Given the description of an element on the screen output the (x, y) to click on. 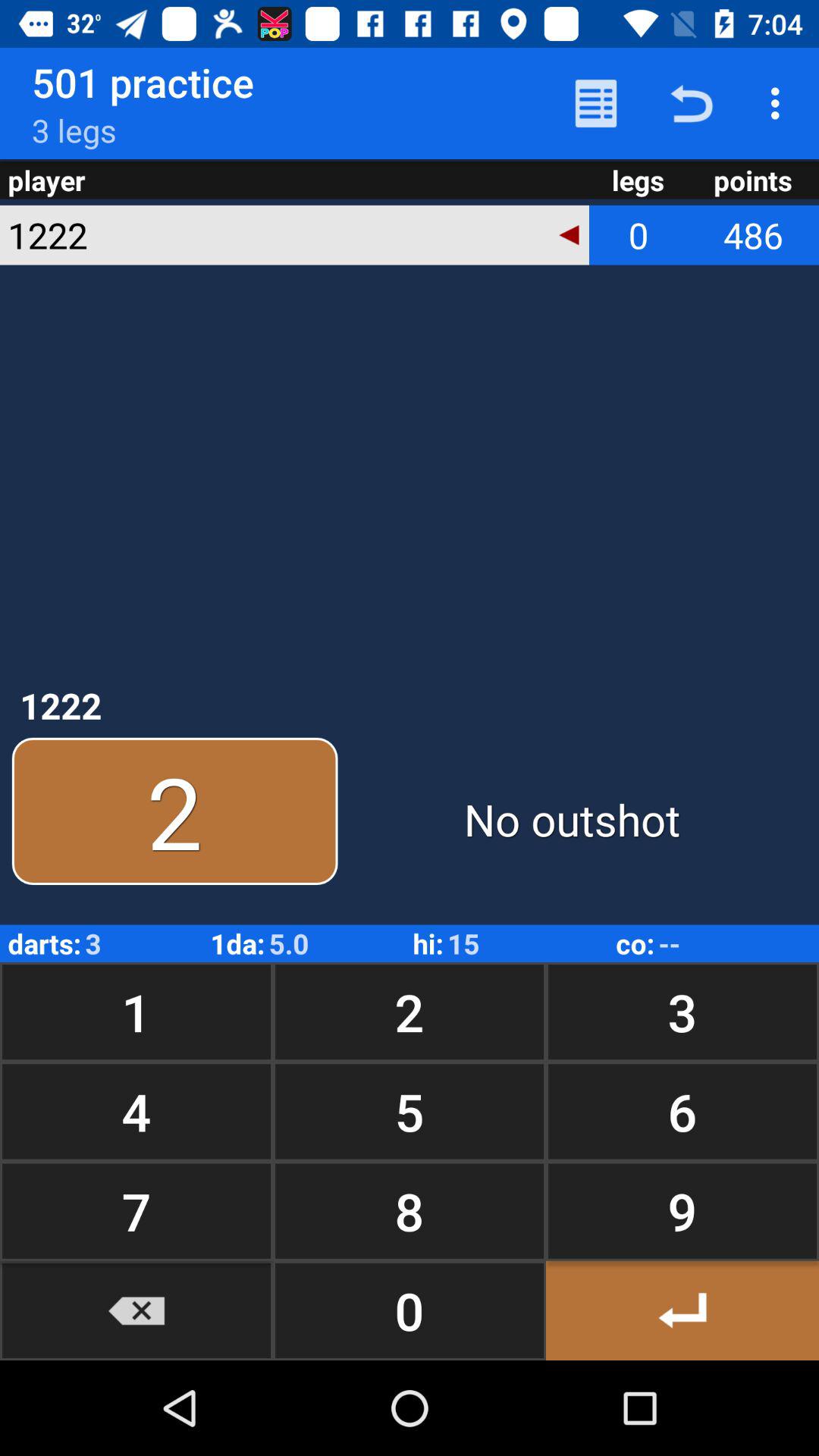
delete (136, 1310)
